Given the description of an element on the screen output the (x, y) to click on. 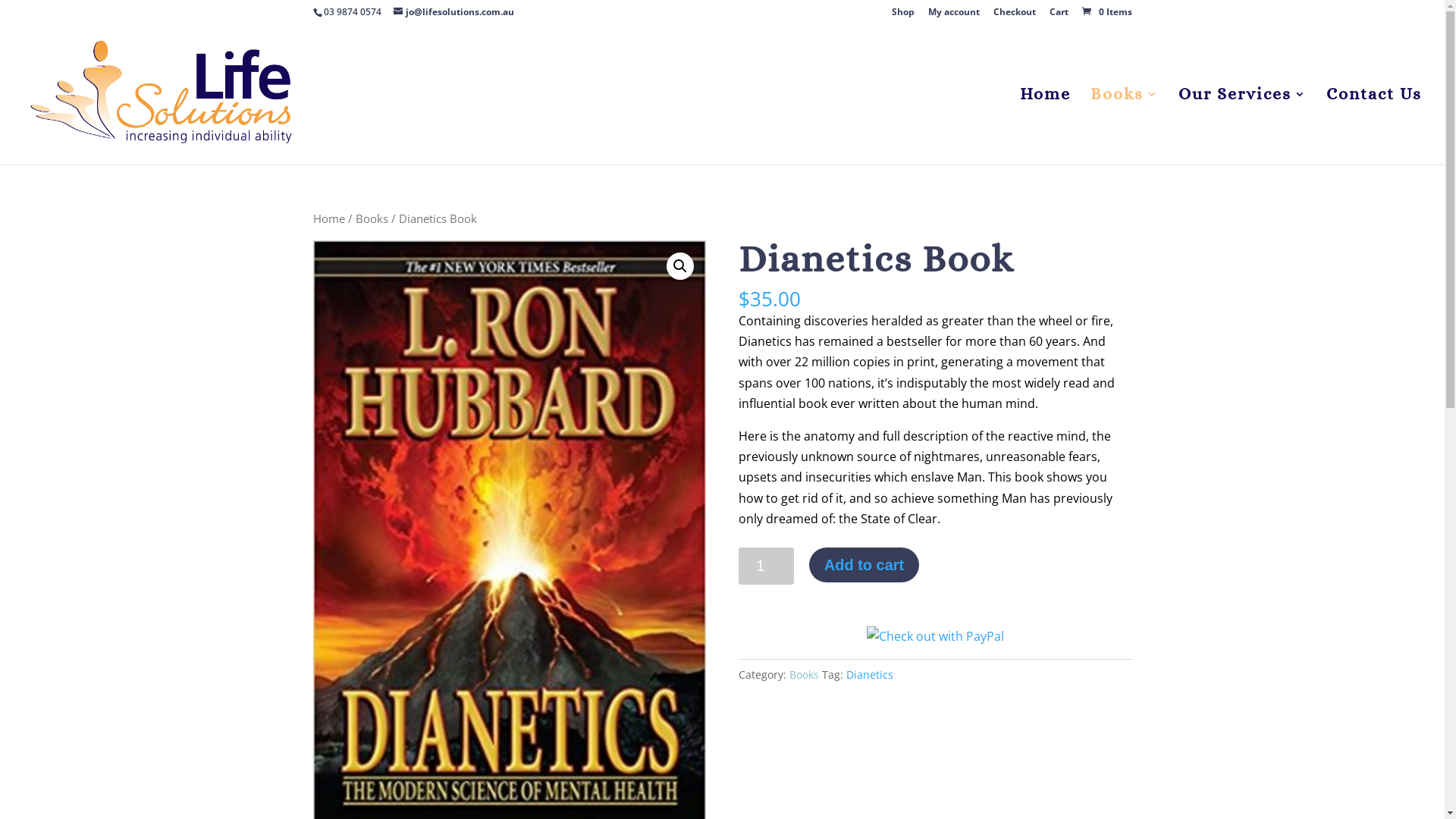
Contact Us Element type: text (1373, 126)
jo@lifesolutions.com.au Element type: text (452, 11)
Home Element type: text (328, 217)
My account Element type: text (953, 15)
Books Element type: text (370, 217)
Cart Element type: text (1058, 15)
0 Items Element type: text (1105, 11)
Checkout Element type: text (1014, 15)
Dianetics Element type: text (869, 674)
Shop Element type: text (902, 15)
Books Element type: text (804, 674)
Our Services Element type: text (1242, 126)
Add to cart Element type: text (864, 564)
Qty Element type: hover (765, 565)
Books Element type: text (1124, 126)
Home Element type: text (1044, 126)
